Given the description of an element on the screen output the (x, y) to click on. 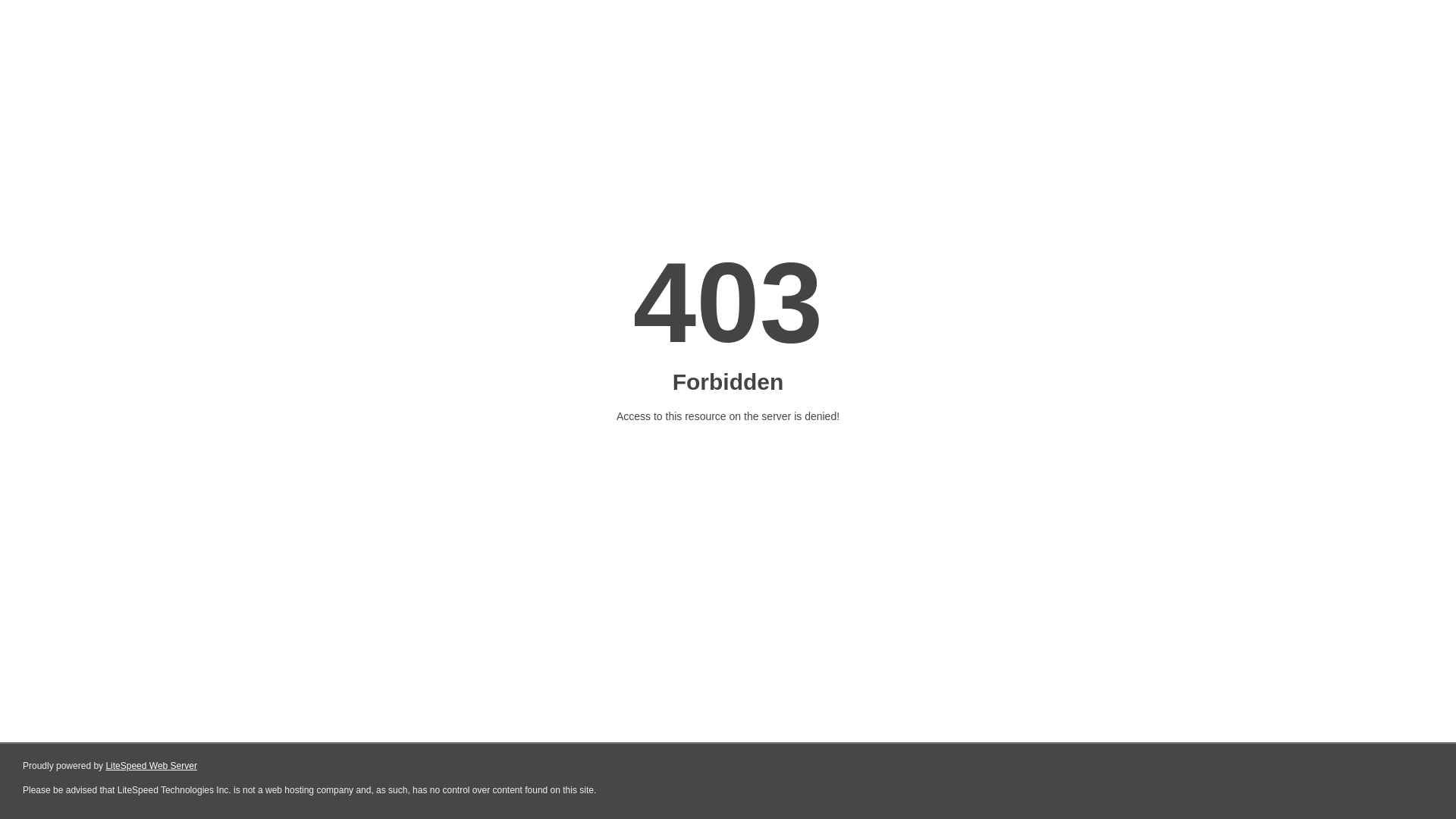
LiteSpeed Web Server Element type: text (151, 765)
